Given the description of an element on the screen output the (x, y) to click on. 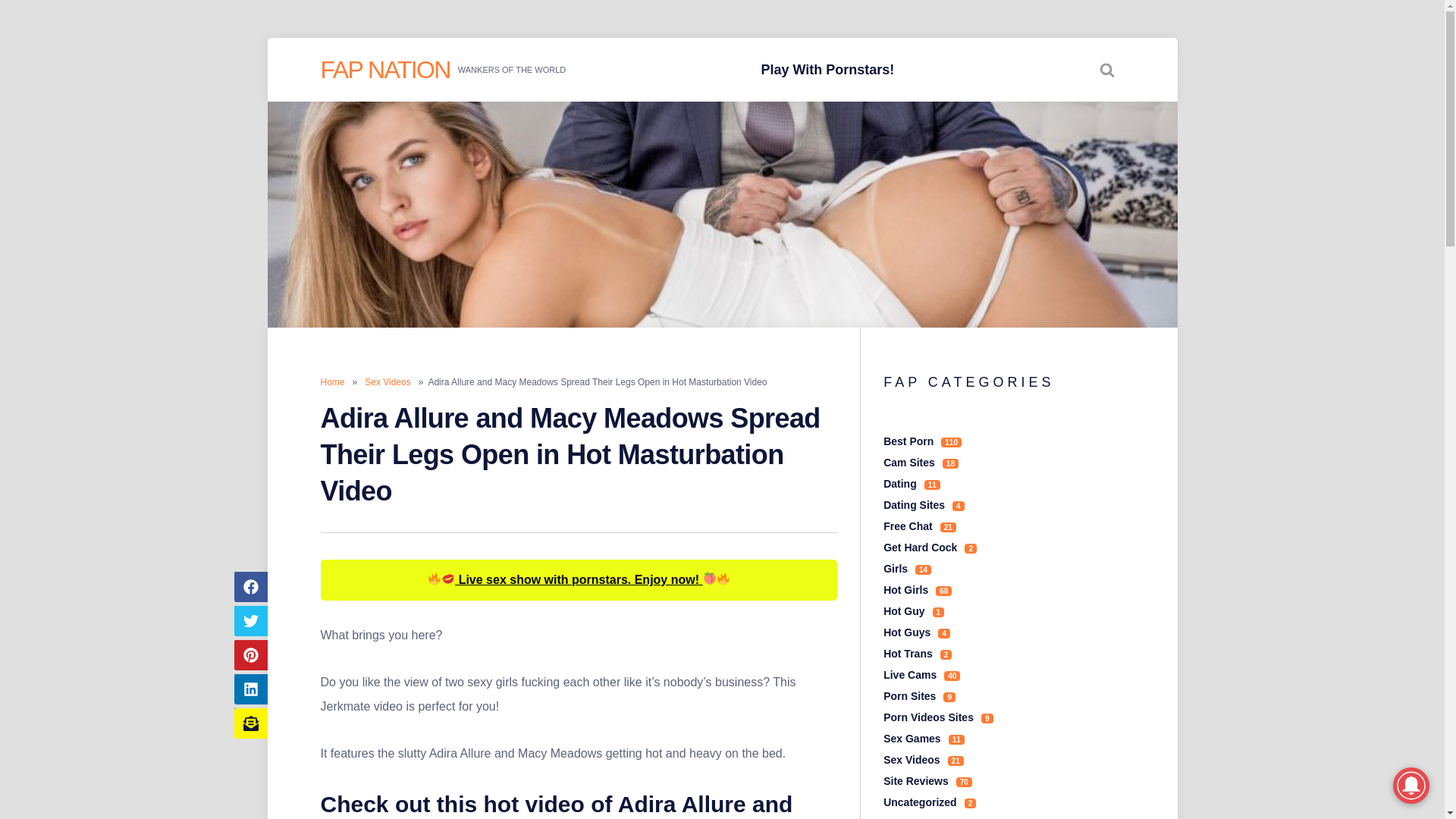
Porn Videos Sites9 (937, 717)
FAP NATION (384, 69)
Get Hard Cock2 (929, 547)
Dating11 (911, 483)
Dating Sites4 (923, 504)
Best Porn110 (921, 440)
Sex Videos (387, 381)
Sex Games11 (923, 738)
Girls14 (907, 568)
Porn Sites9 (919, 695)
Uncategorized2 (929, 802)
Sex Videos21 (923, 759)
Live Cams40 (921, 674)
Hot Guy1 (913, 611)
Hot Trans2 (917, 653)
